Given the description of an element on the screen output the (x, y) to click on. 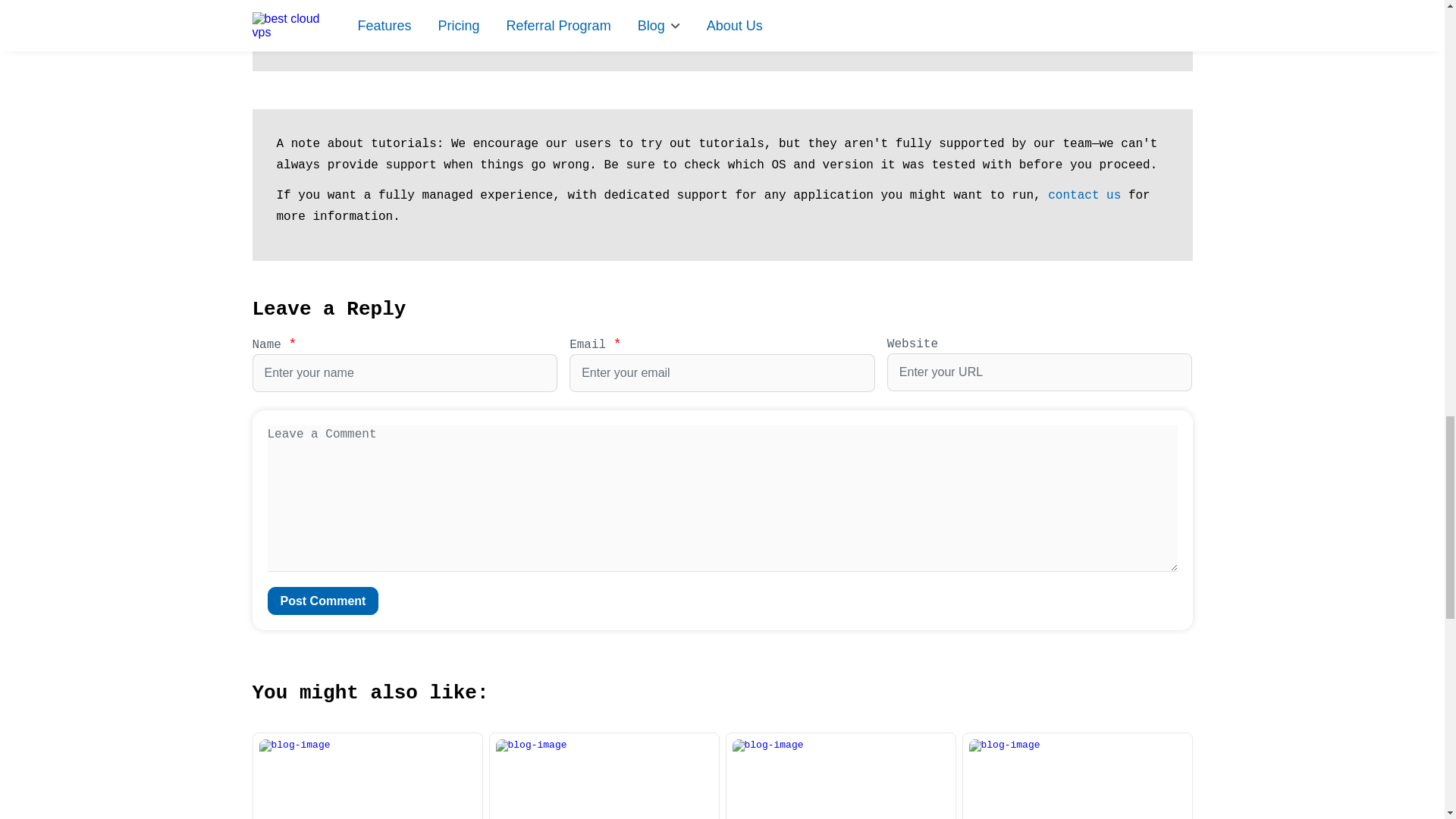
Post Comment (322, 601)
Subscribe now (722, 6)
contact us (1084, 195)
